Given the description of an element on the screen output the (x, y) to click on. 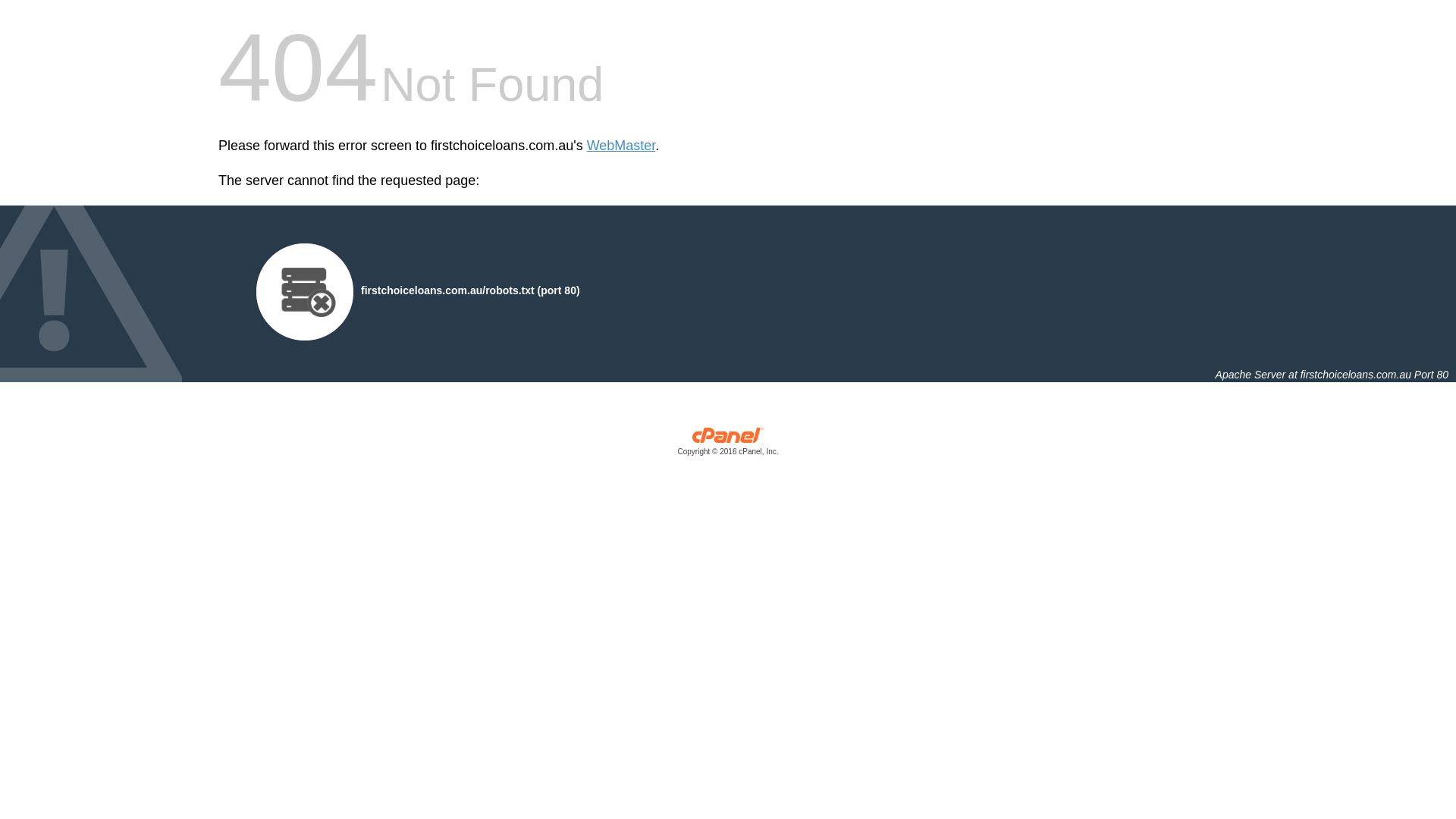
WebMaster Element type: text (620, 145)
